Given the description of an element on the screen output the (x, y) to click on. 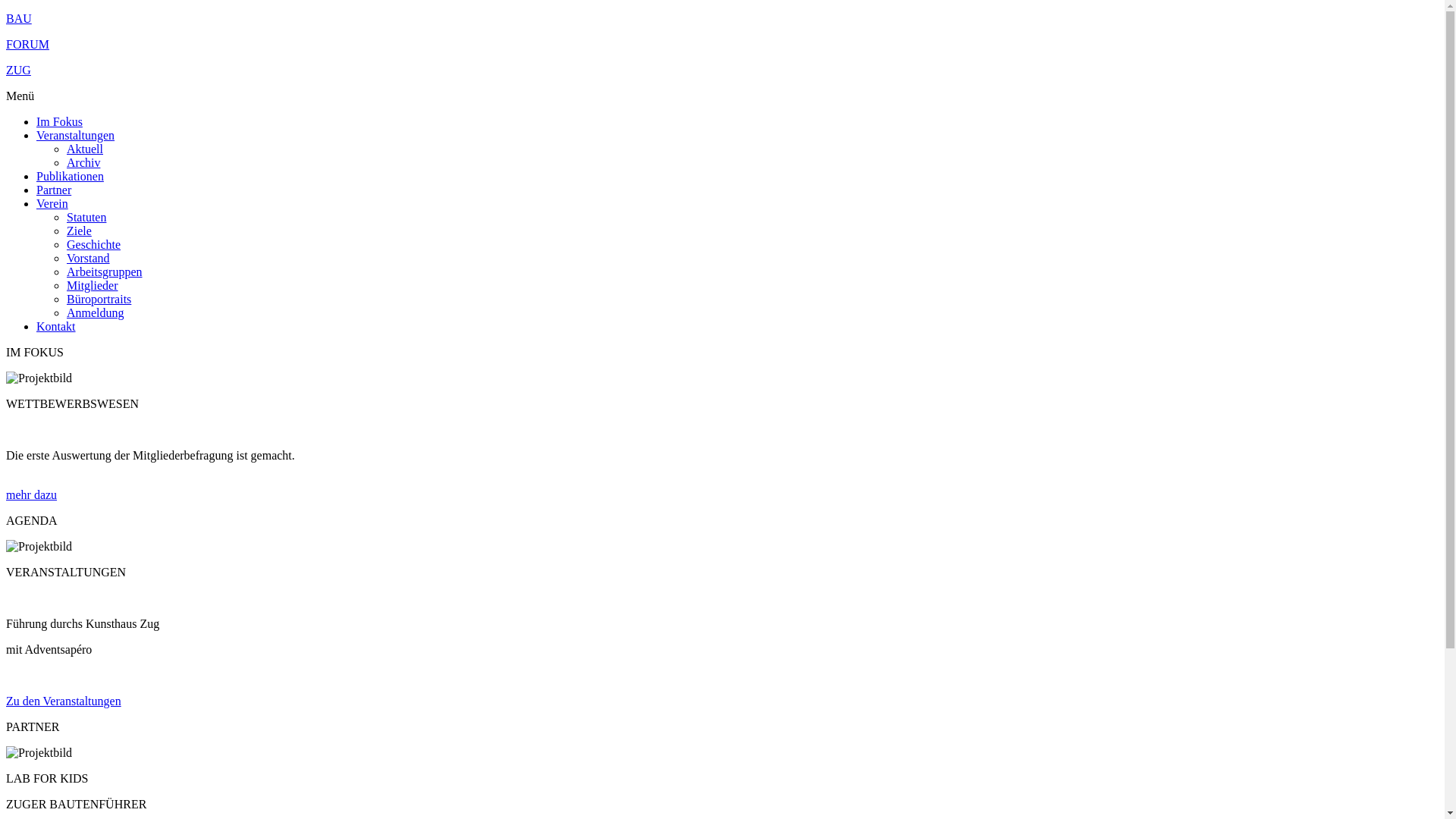
Veranstaltungen Element type: text (75, 134)
Vorstand Element type: text (87, 257)
Publikationen Element type: text (69, 175)
Statuten Element type: text (86, 216)
Aktuell Element type: text (84, 148)
Partner Element type: text (53, 189)
Geschichte Element type: text (93, 244)
Im Fokus Element type: text (59, 121)
Verein Element type: text (52, 203)
Archiv Element type: text (83, 162)
Mitglieder Element type: text (92, 285)
BAU
FORUM
ZUG Element type: text (722, 44)
Zu den Veranstaltungen Element type: text (63, 700)
Ziele Element type: text (78, 230)
Anmeldung Element type: text (95, 312)
mehr dazu Element type: text (31, 494)
Arbeitsgruppen Element type: text (104, 271)
Kontakt Element type: text (55, 326)
